Given the description of an element on the screen output the (x, y) to click on. 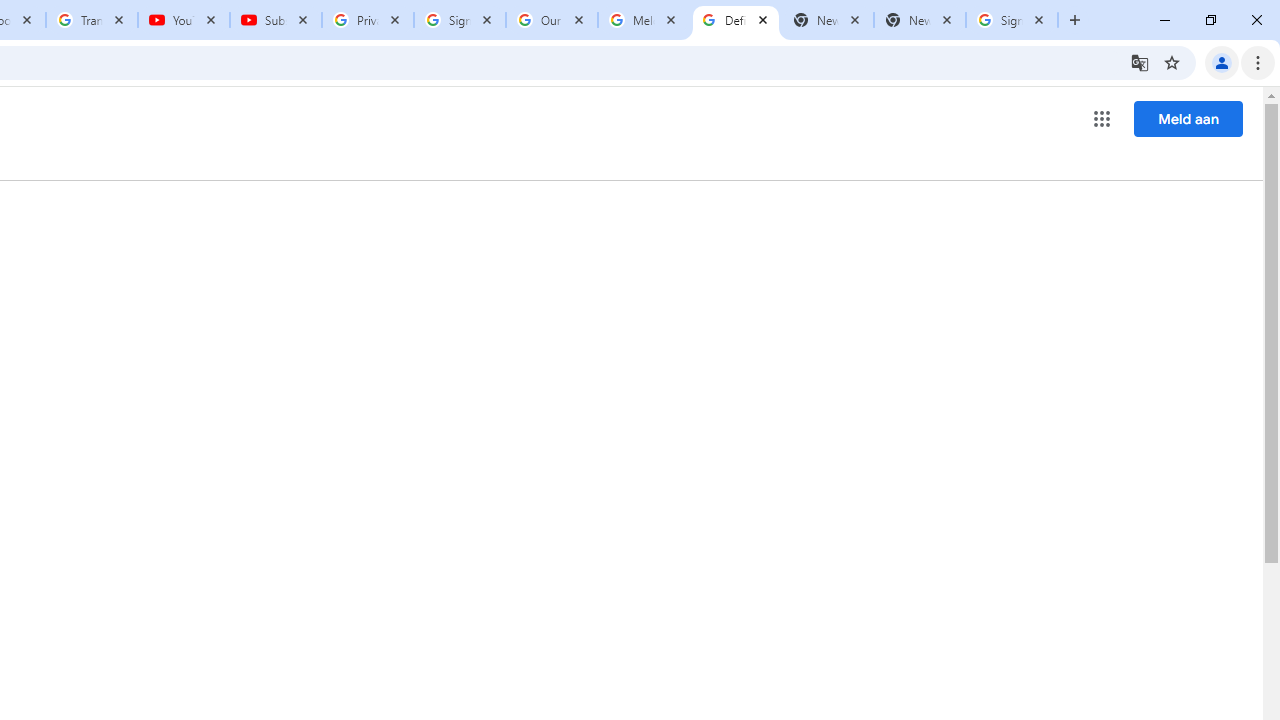
Translate this page (1139, 62)
New Tab (920, 20)
Sign in - Google Accounts (1012, 20)
Meld aan (1188, 118)
